Given the description of an element on the screen output the (x, y) to click on. 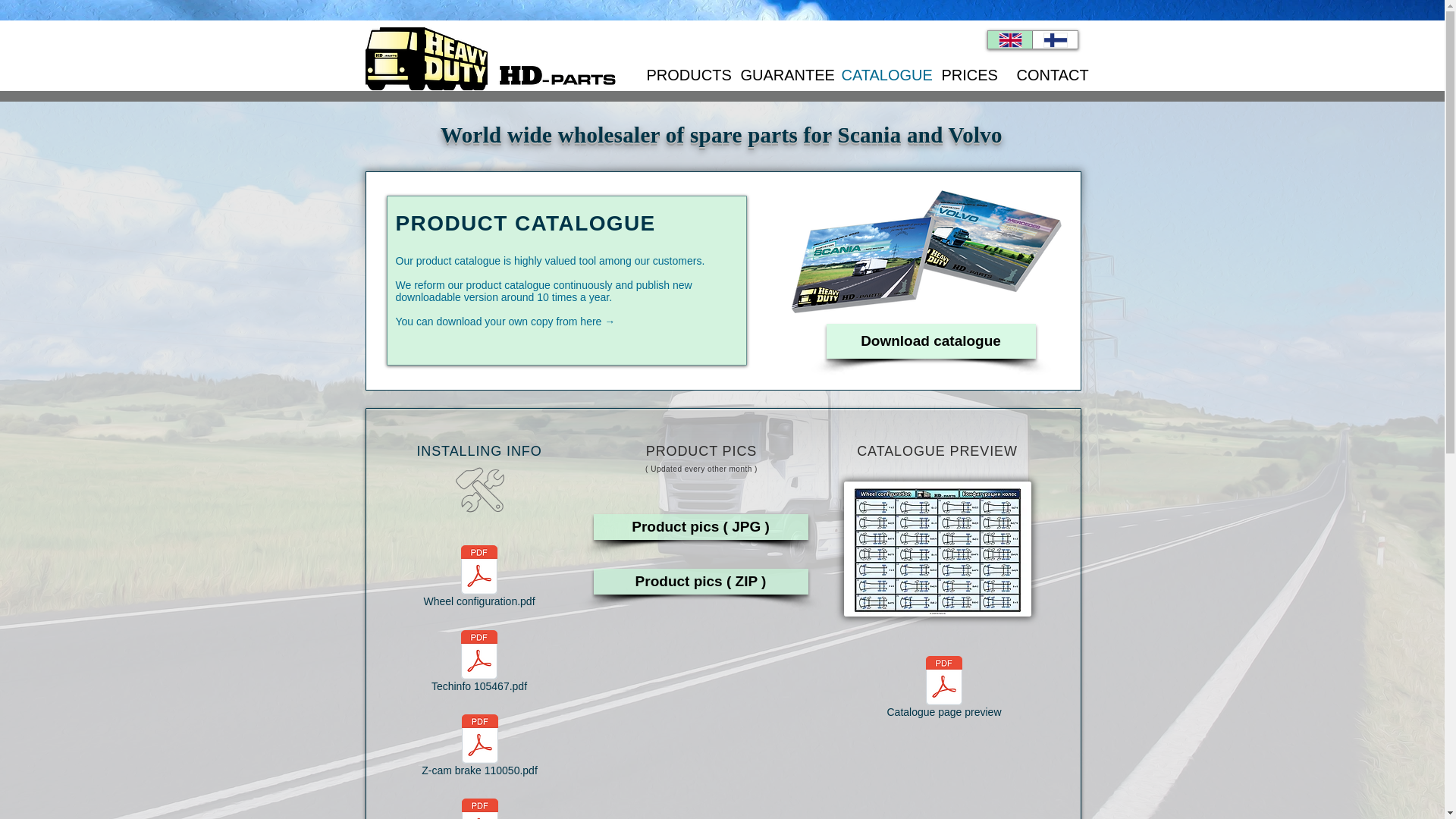
Z-cam brake 110050.pdf (480, 748)
Techinfo 105467.pdf (478, 663)
GUARANTEE (779, 74)
Download catalogue (931, 340)
PRODUCTS (681, 74)
Wheel configuration.pdf (478, 579)
CONTACT (1048, 74)
Catalogue page preview (944, 689)
Installing the Scania door lock cylinder (480, 808)
Z-cam brake 110050.pdf (480, 748)
